Given the description of an element on the screen output the (x, y) to click on. 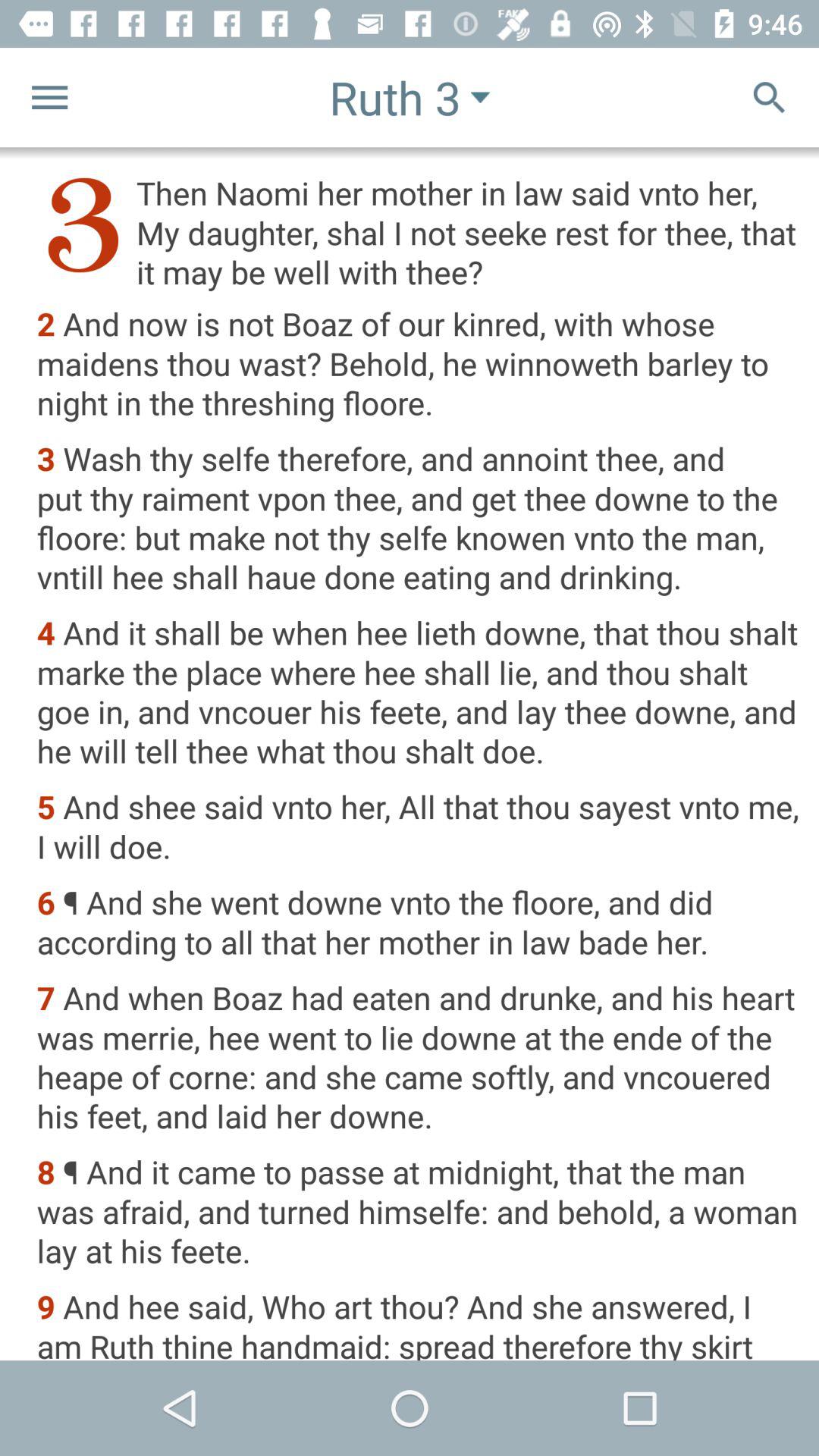
launch icon below the 2 and now item (417, 519)
